Given the description of an element on the screen output the (x, y) to click on. 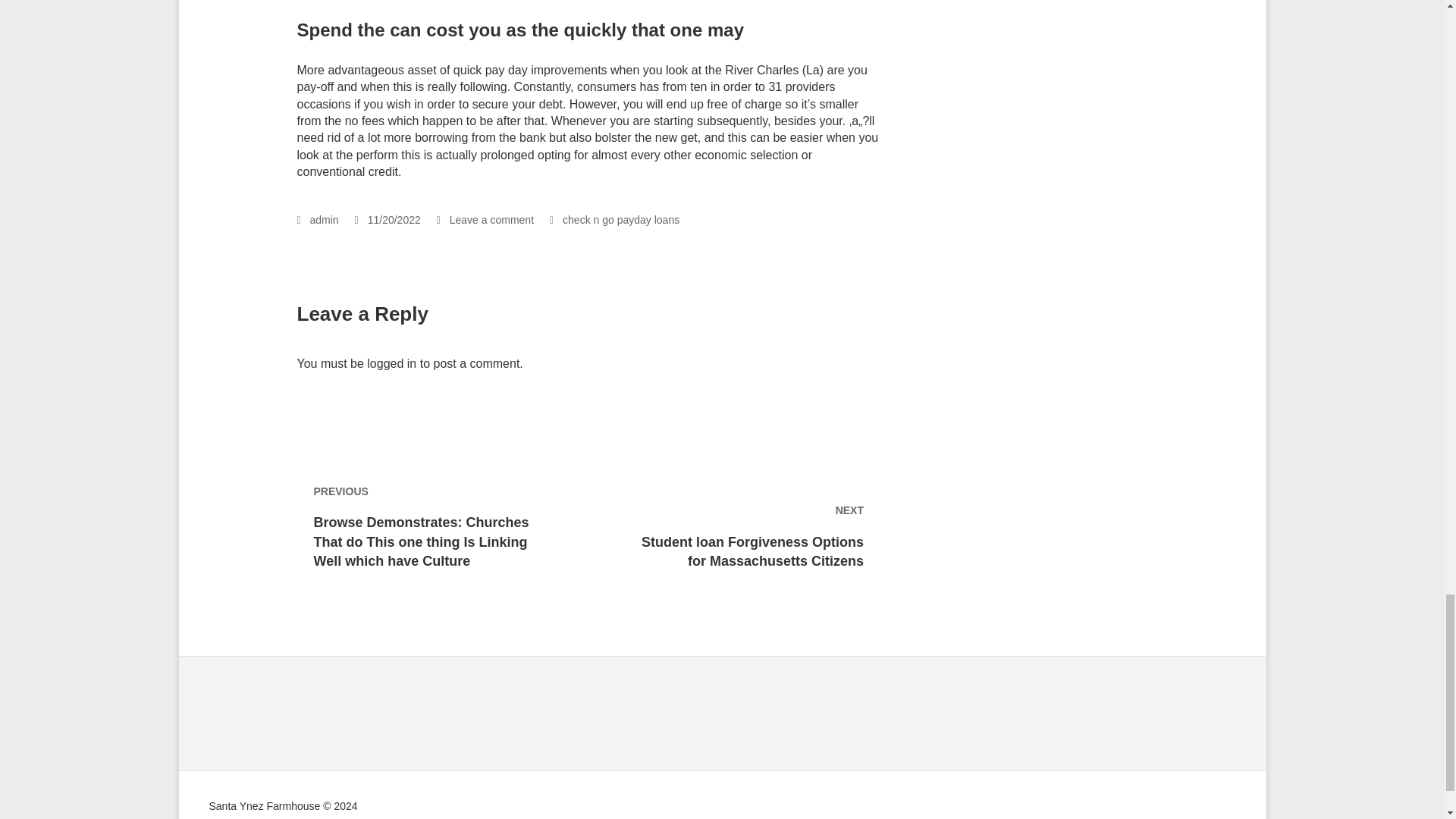
admin (318, 219)
logged in (391, 363)
check n go payday loans (620, 219)
